Given the description of an element on the screen output the (x, y) to click on. 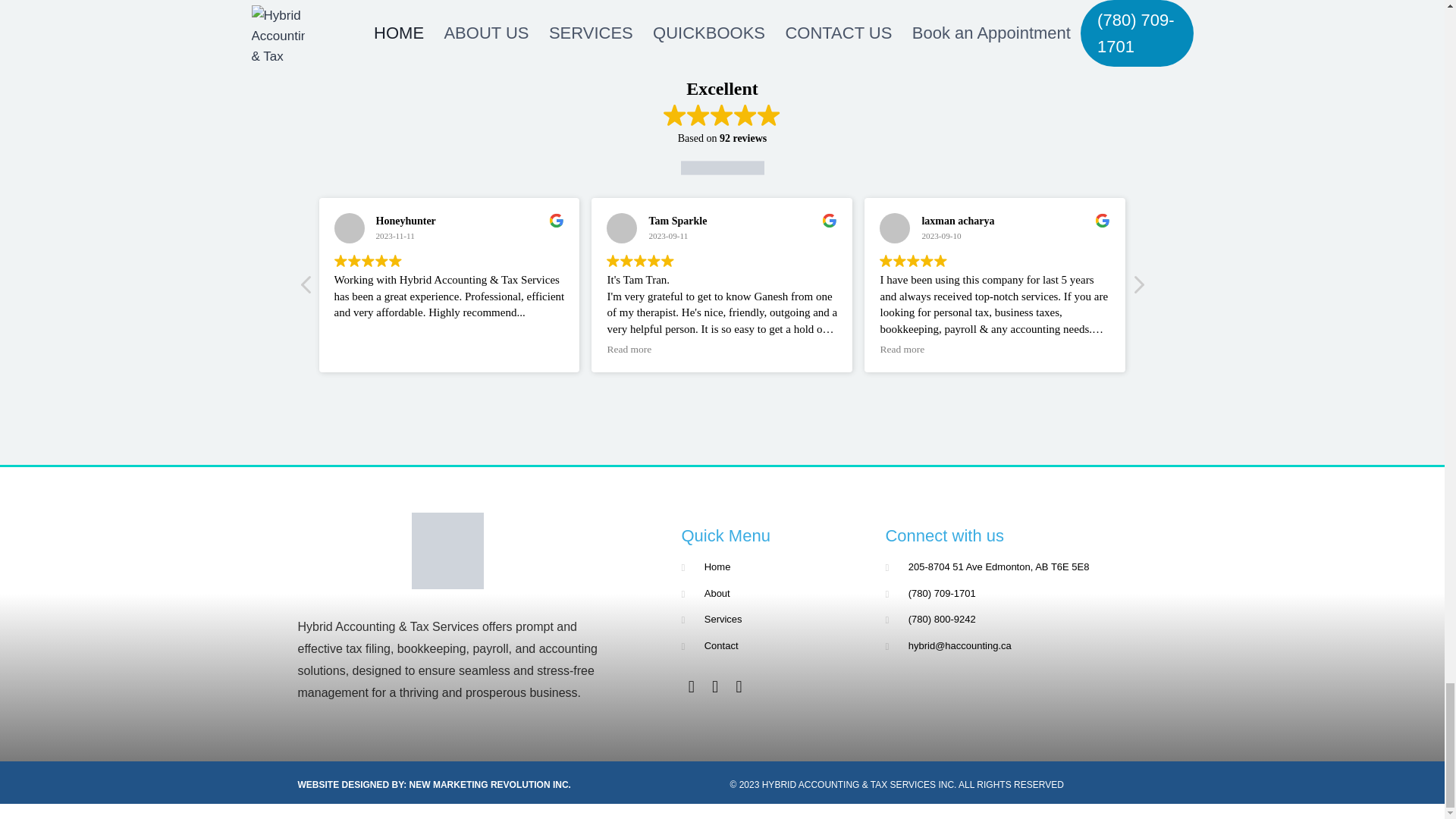
205-8704 51 Ave Edmonton, AB T6E 5E8 (1008, 567)
WEBSITE DESIGNED BY: NEW MARKETING REVOLUTION INC. (433, 784)
Contact (771, 646)
About (771, 593)
Home (771, 567)
Services (771, 619)
